Given the description of an element on the screen output the (x, y) to click on. 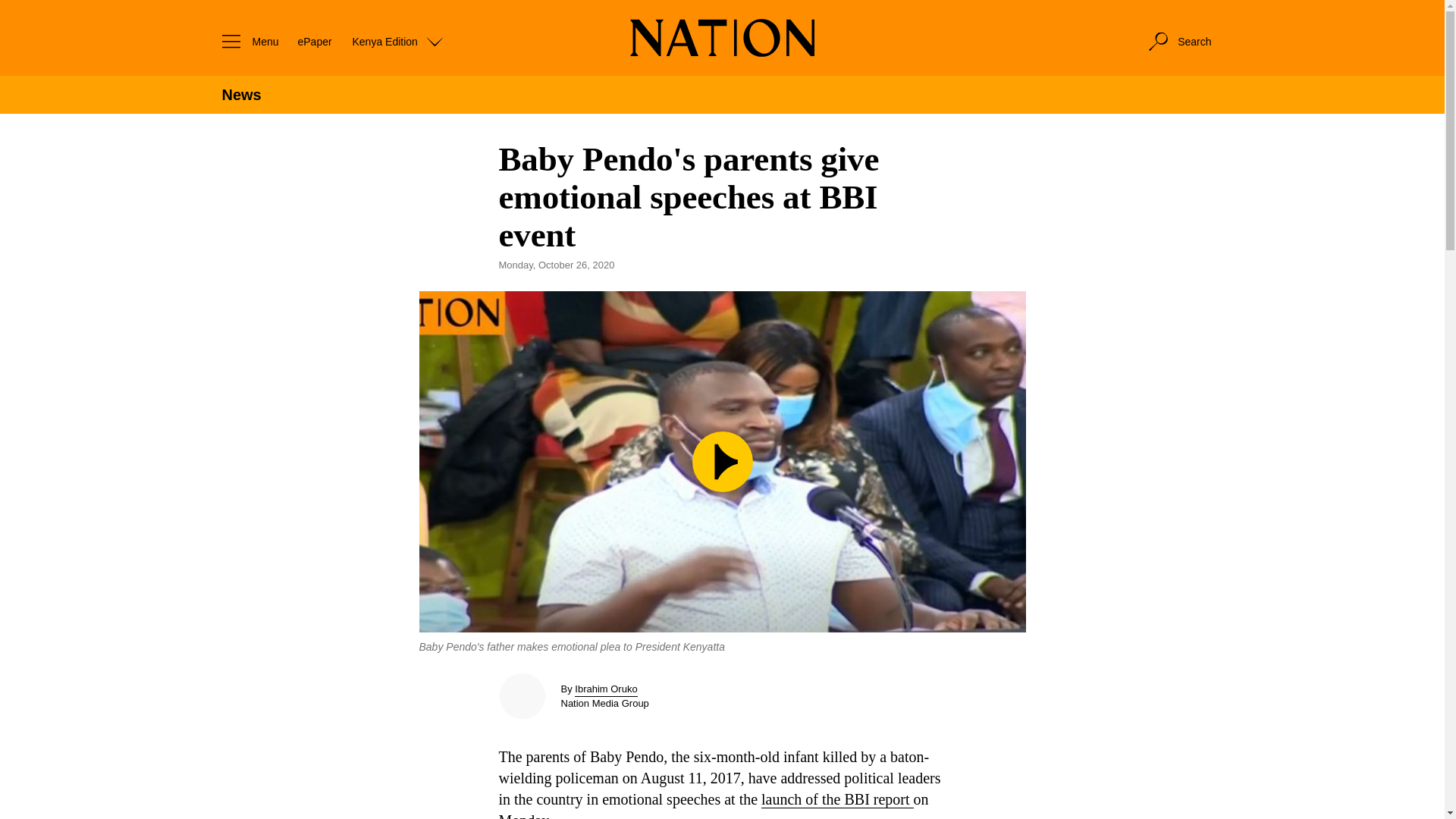
News (240, 94)
Kenya Edition (398, 41)
Search (1178, 41)
Menu (246, 41)
ePaper (314, 41)
